Given the description of an element on the screen output the (x, y) to click on. 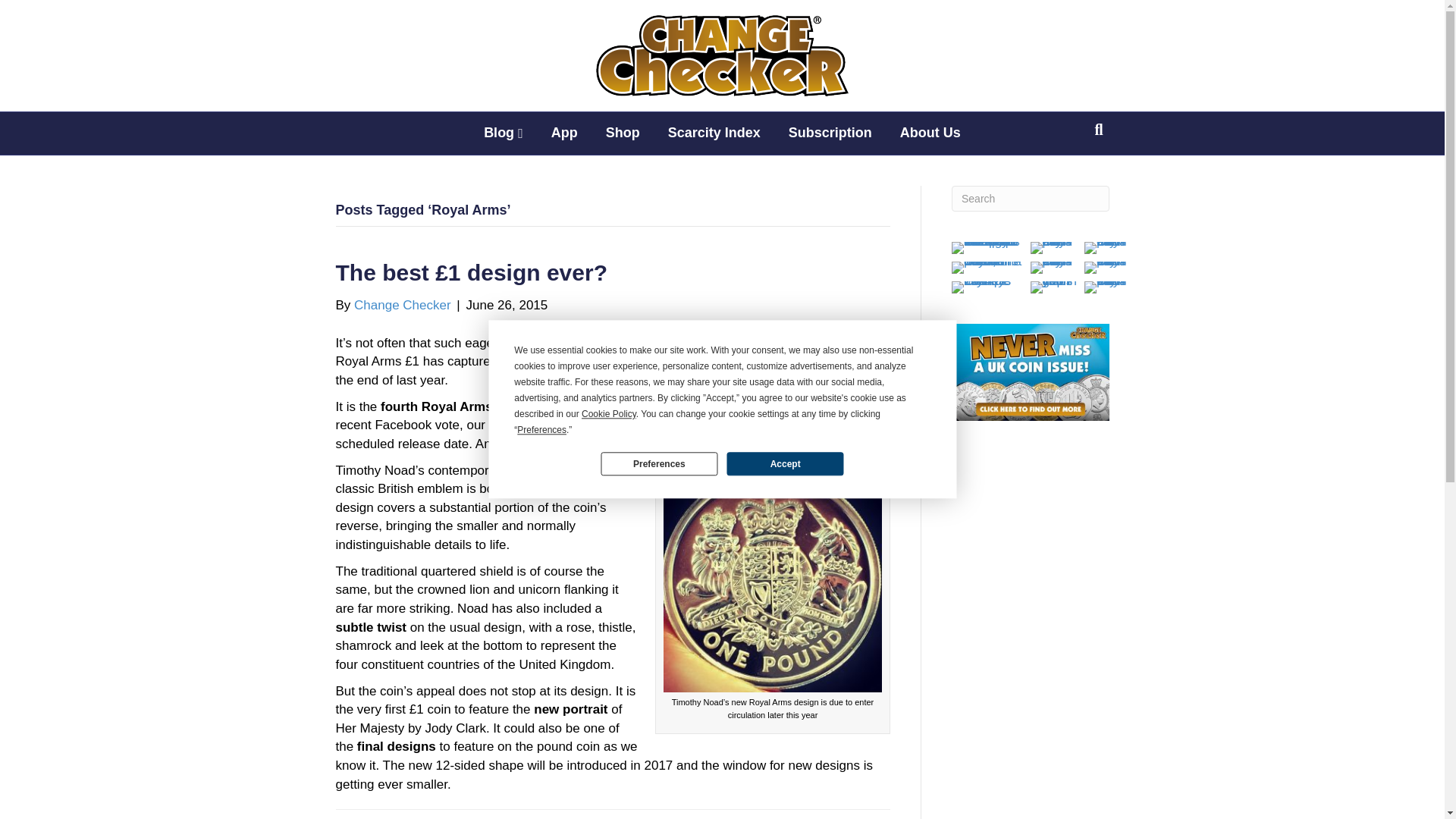
Shop (623, 132)
Preferences (658, 463)
Type and press Enter to search. (1030, 198)
App (563, 132)
Scarcity Index (714, 132)
Accept (784, 463)
Subscription (829, 132)
About Us (930, 132)
Blog (503, 133)
